Given the description of an element on the screen output the (x, y) to click on. 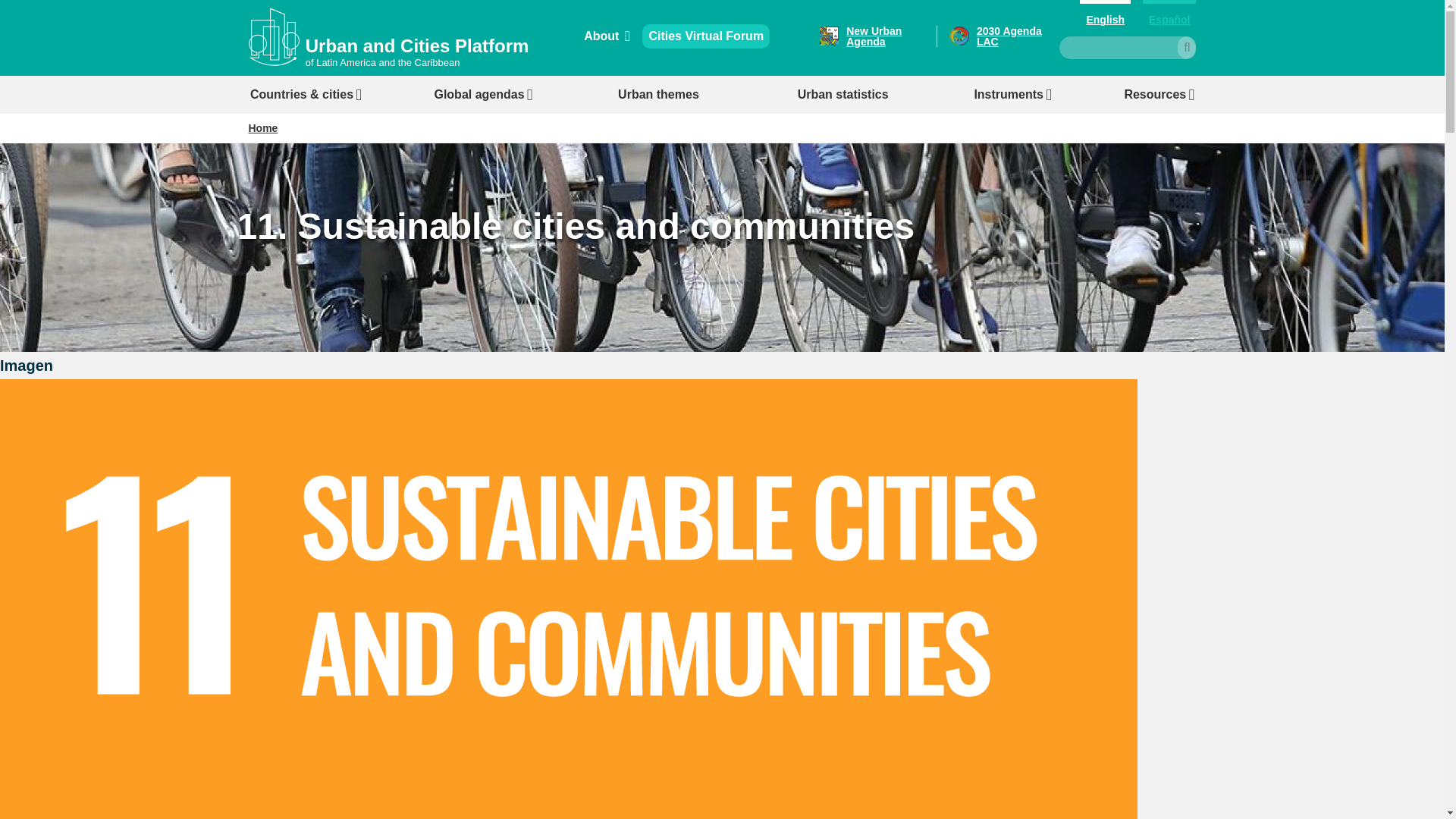
Urban and Cities Platform (417, 46)
Cities Virtual Forum (706, 36)
Home (417, 46)
English (1105, 18)
New Urban Agenda (876, 35)
2030 Agenda LAC (998, 35)
About (606, 35)
